Given the description of an element on the screen output the (x, y) to click on. 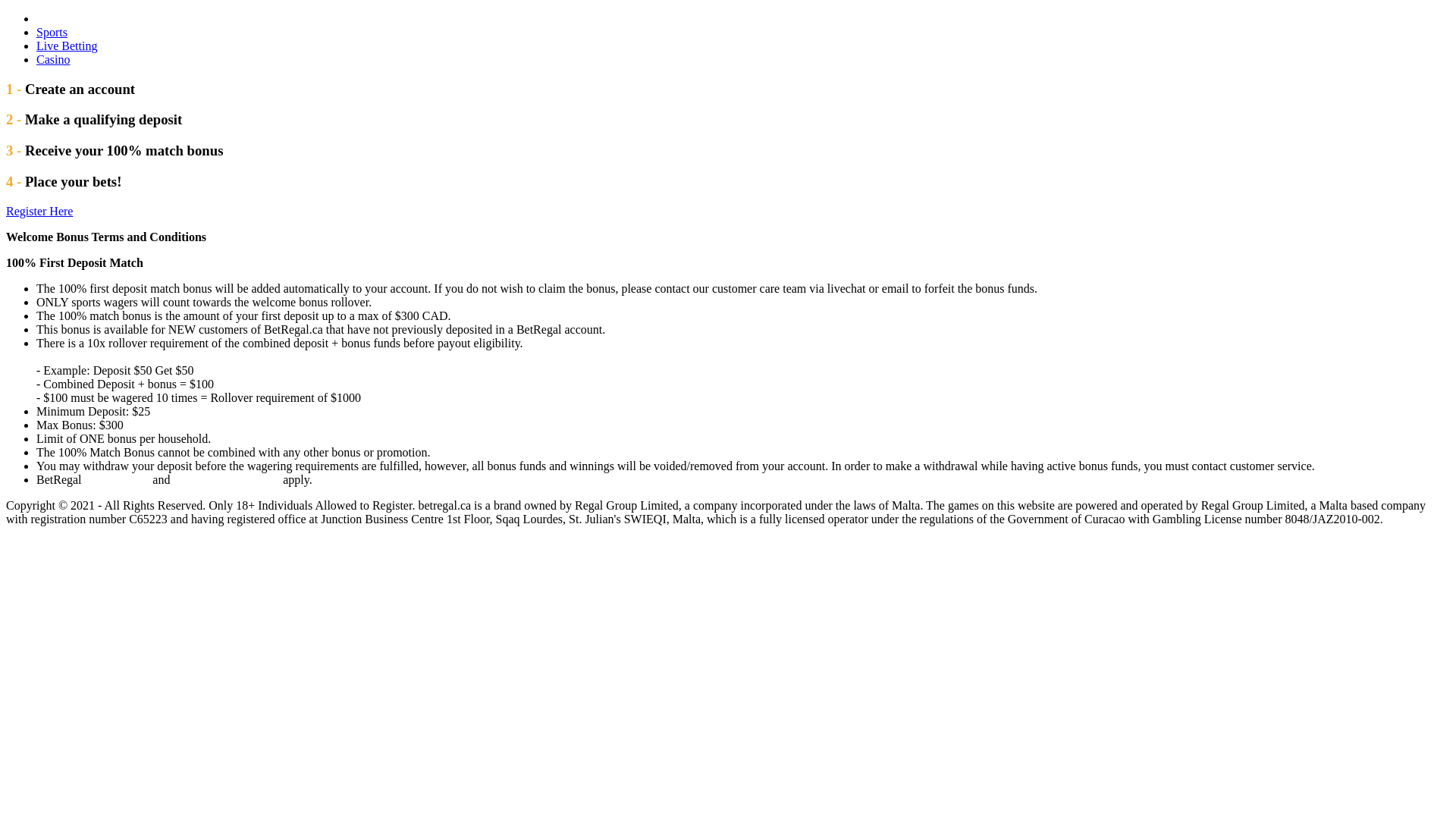
Bonus Policy Element type: text (117, 479)
Live Betting Element type: text (66, 45)
Sports Element type: text (51, 31)
Casino Element type: text (52, 59)
Register Here Element type: text (39, 210)
Terms and Conditions Element type: text (225, 479)
